Given the description of an element on the screen output the (x, y) to click on. 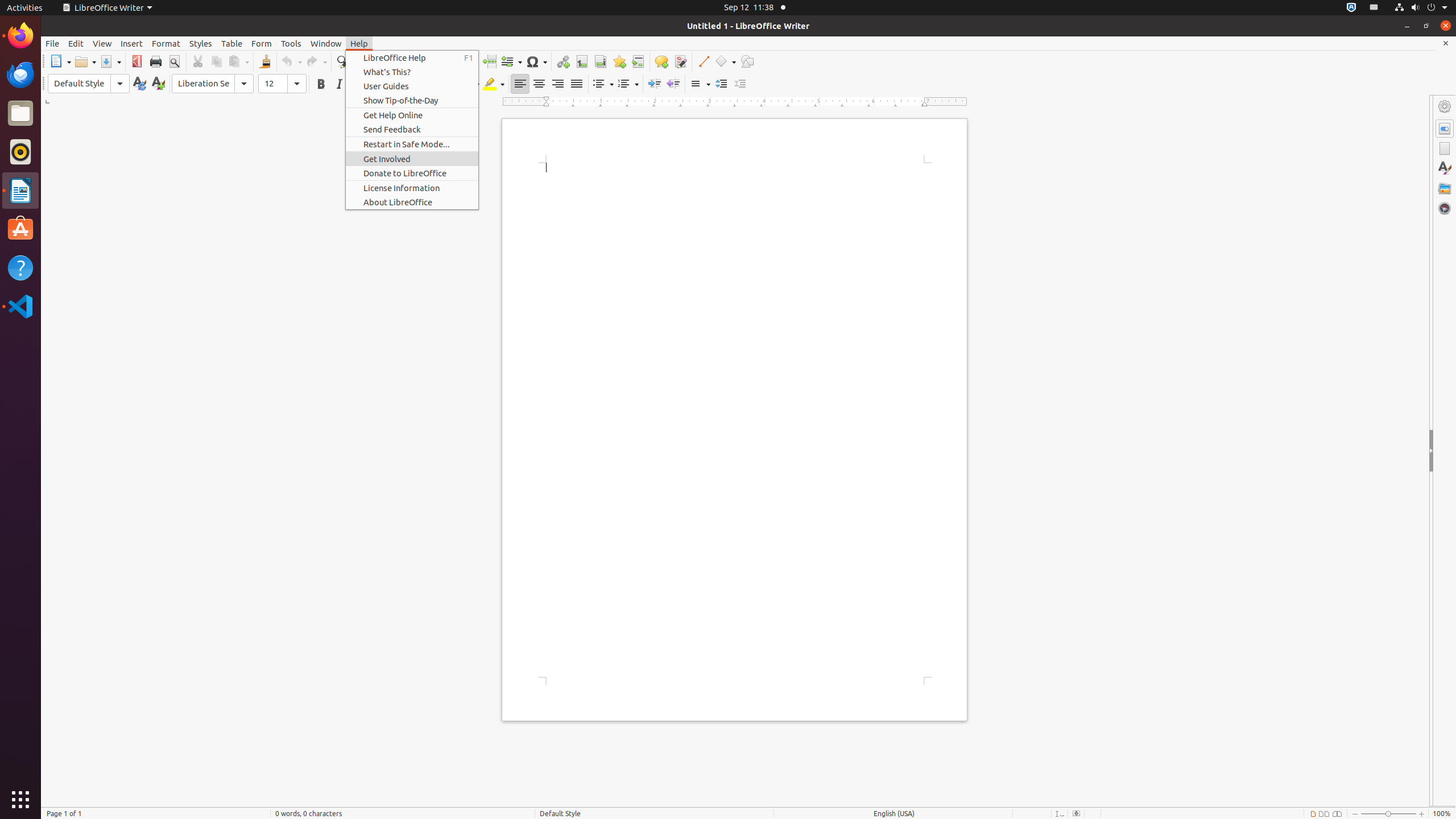
View Element type: menu (102, 43)
Center Element type: toggle-button (538, 83)
Bookmark Element type: push-button (618, 61)
Copy Element type: push-button (216, 61)
Line Spacing Element type: push-button (699, 83)
